Given the description of an element on the screen output the (x, y) to click on. 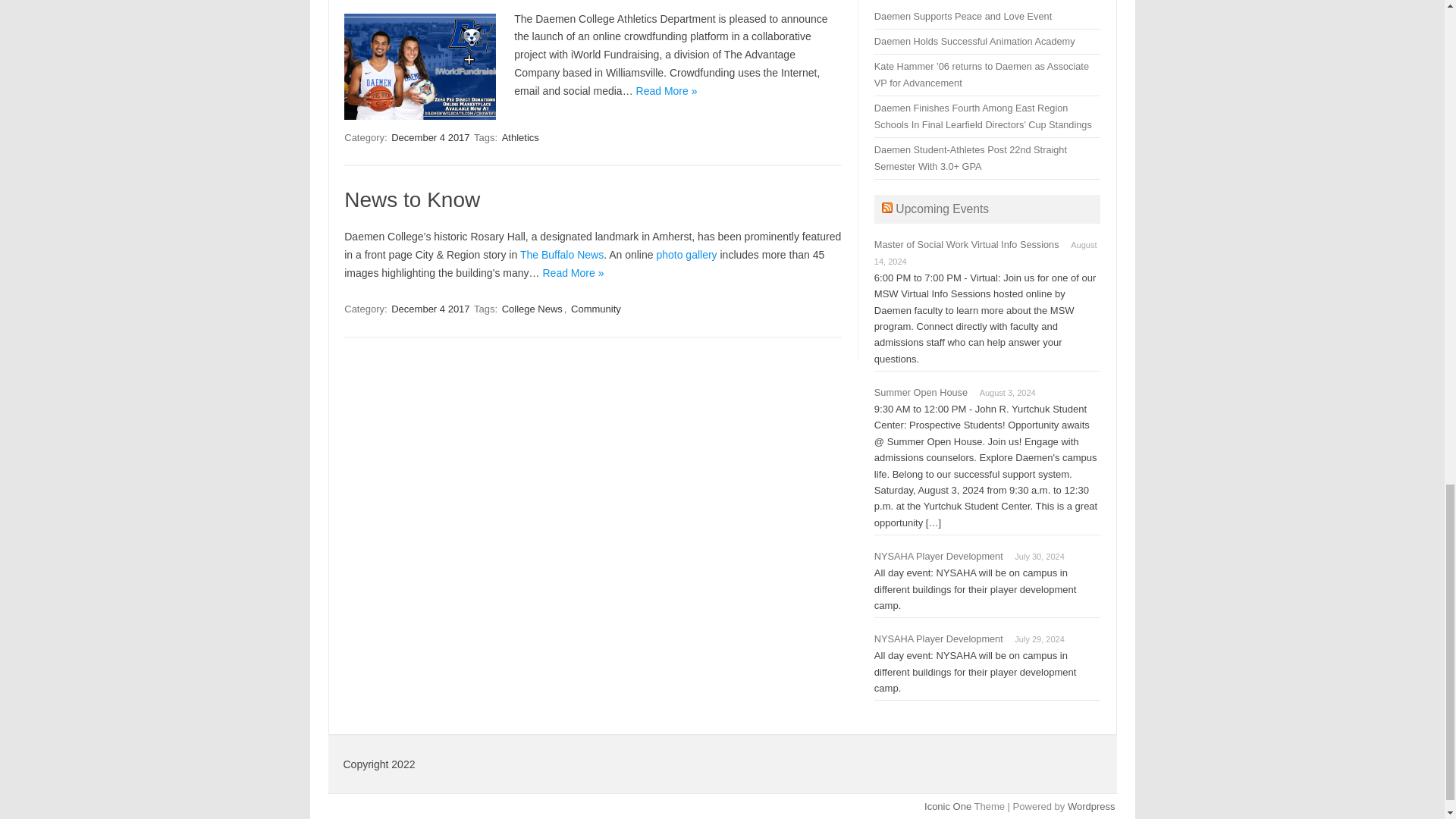
Permalink to News to Know (411, 199)
